Given the description of an element on the screen output the (x, y) to click on. 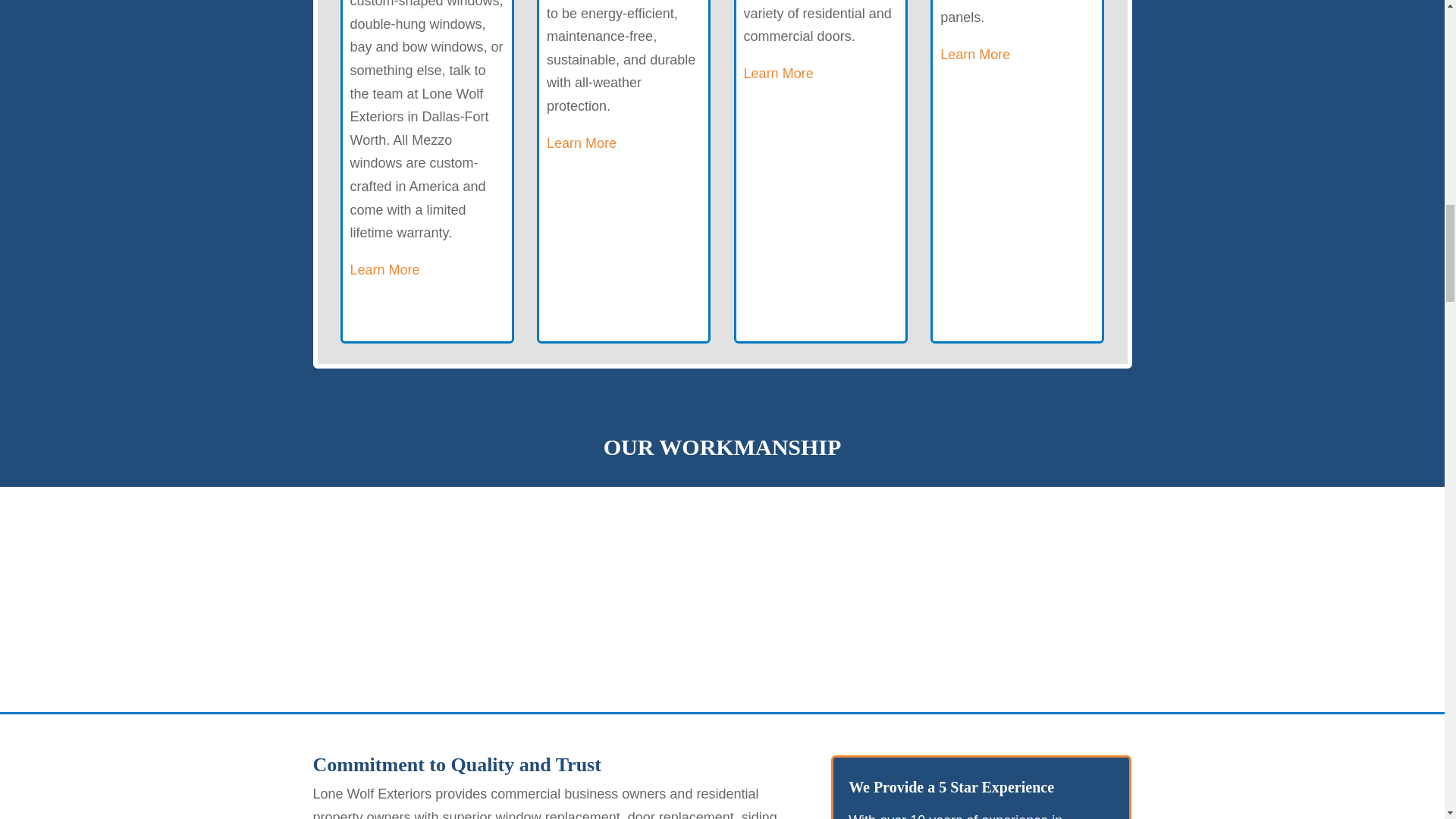
Learn More (975, 54)
Learn More (385, 269)
Learn More (778, 73)
Learn More (581, 142)
